Given the description of an element on the screen output the (x, y) to click on. 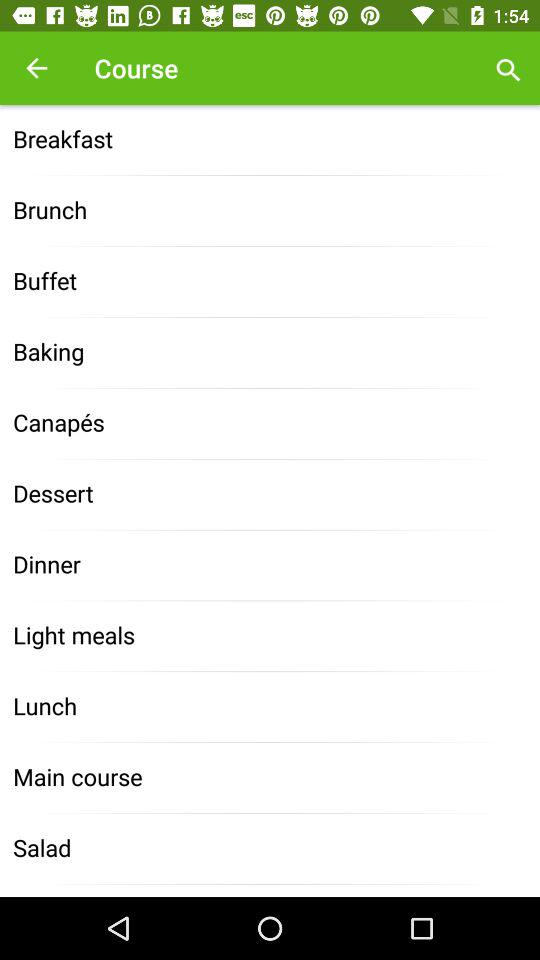
flip to main course (270, 777)
